Given the description of an element on the screen output the (x, y) to click on. 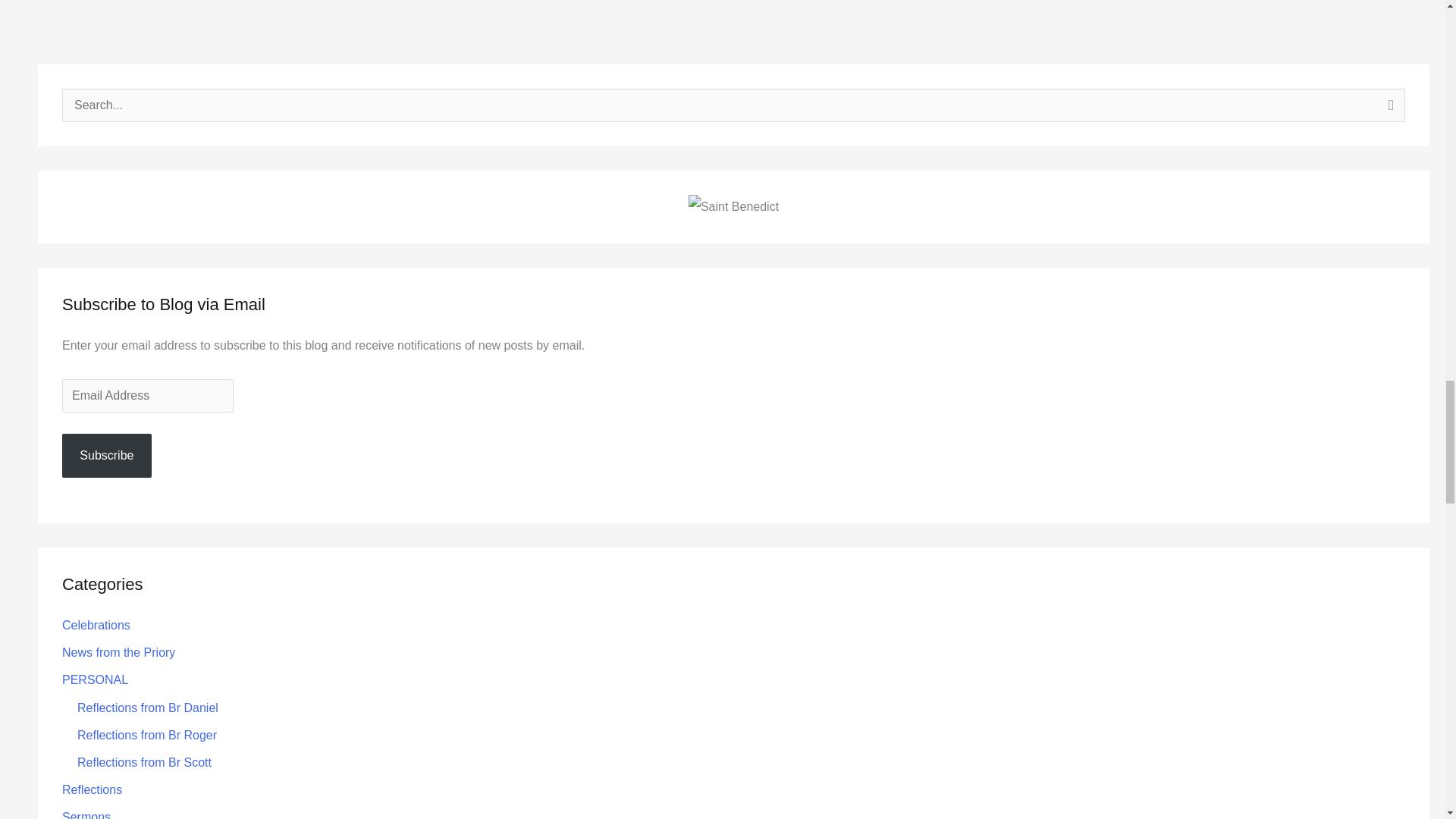
Celebrations (96, 625)
Subscribe (106, 455)
